Given the description of an element on the screen output the (x, y) to click on. 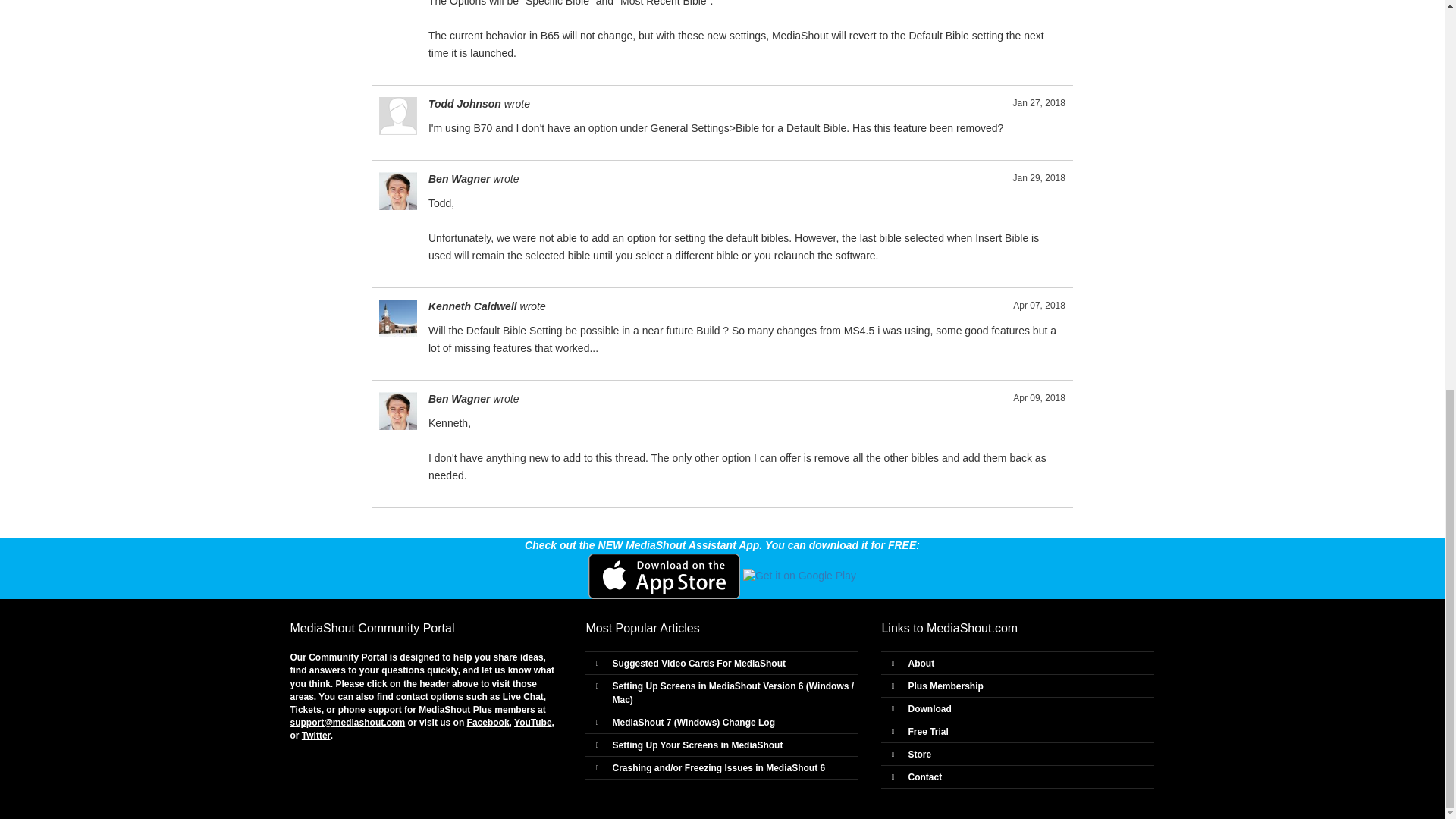
Download (928, 708)
MediaShout.com (971, 627)
Setting Up Your Screens in MediaShout (697, 745)
YouTube (532, 722)
Plus Membership (944, 685)
Apr 09, 2018, 06:19 AM (1039, 398)
Contact (924, 777)
Suggested Video Cards For MediaShout (697, 663)
Setting Up Your Screens in MediaShout (697, 745)
Avatar image (397, 318)
Apr 07, 2018, 06:44 PM (1039, 305)
Avatar image (397, 410)
Tickets (304, 709)
Free Trial (927, 731)
Store (919, 754)
